Given the description of an element on the screen output the (x, y) to click on. 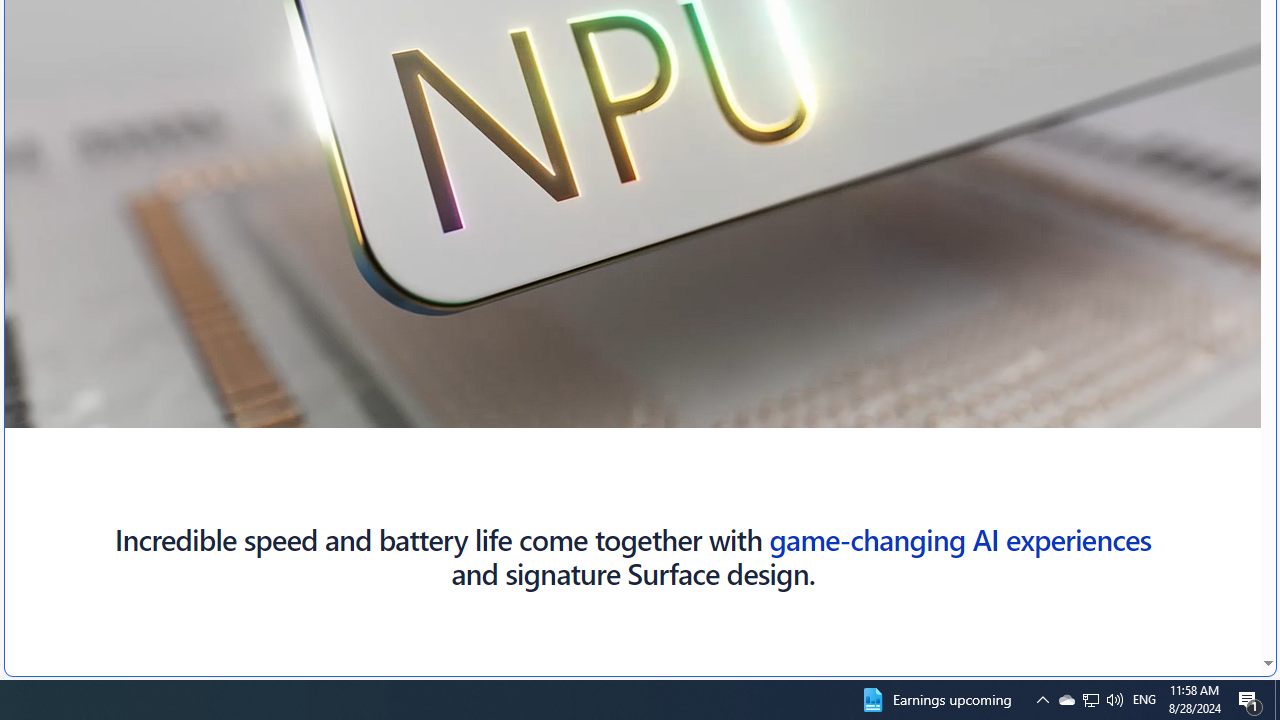
Progress Bar (582, 411)
Captions (1106, 412)
Fullscreen (1238, 412)
Unmute (1194, 412)
Download (1062, 412)
Pause (60, 372)
AutomationID: pause-svg (61, 372)
